Given the description of an element on the screen output the (x, y) to click on. 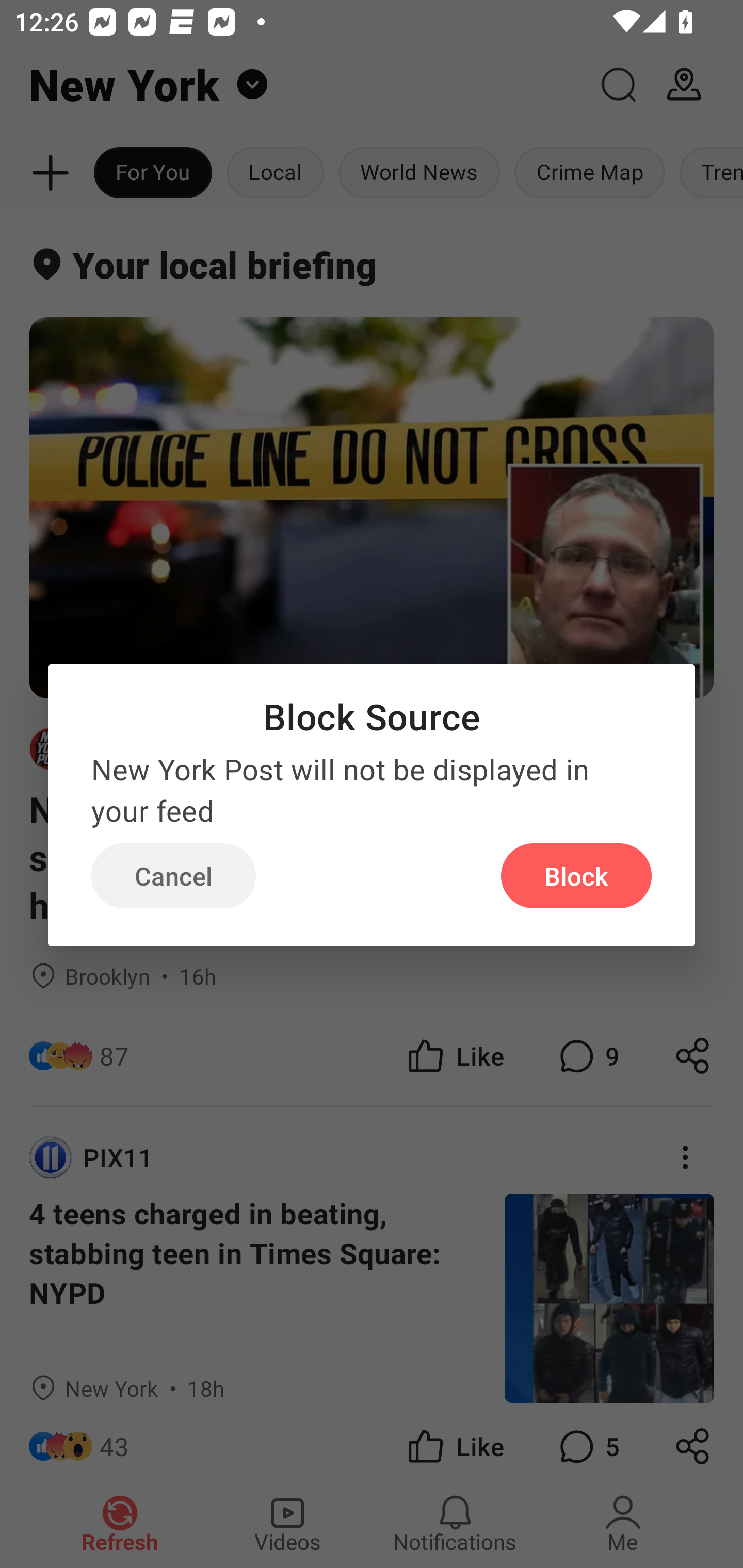
Cancel (173, 875)
Block (575, 875)
